Given the description of an element on the screen output the (x, y) to click on. 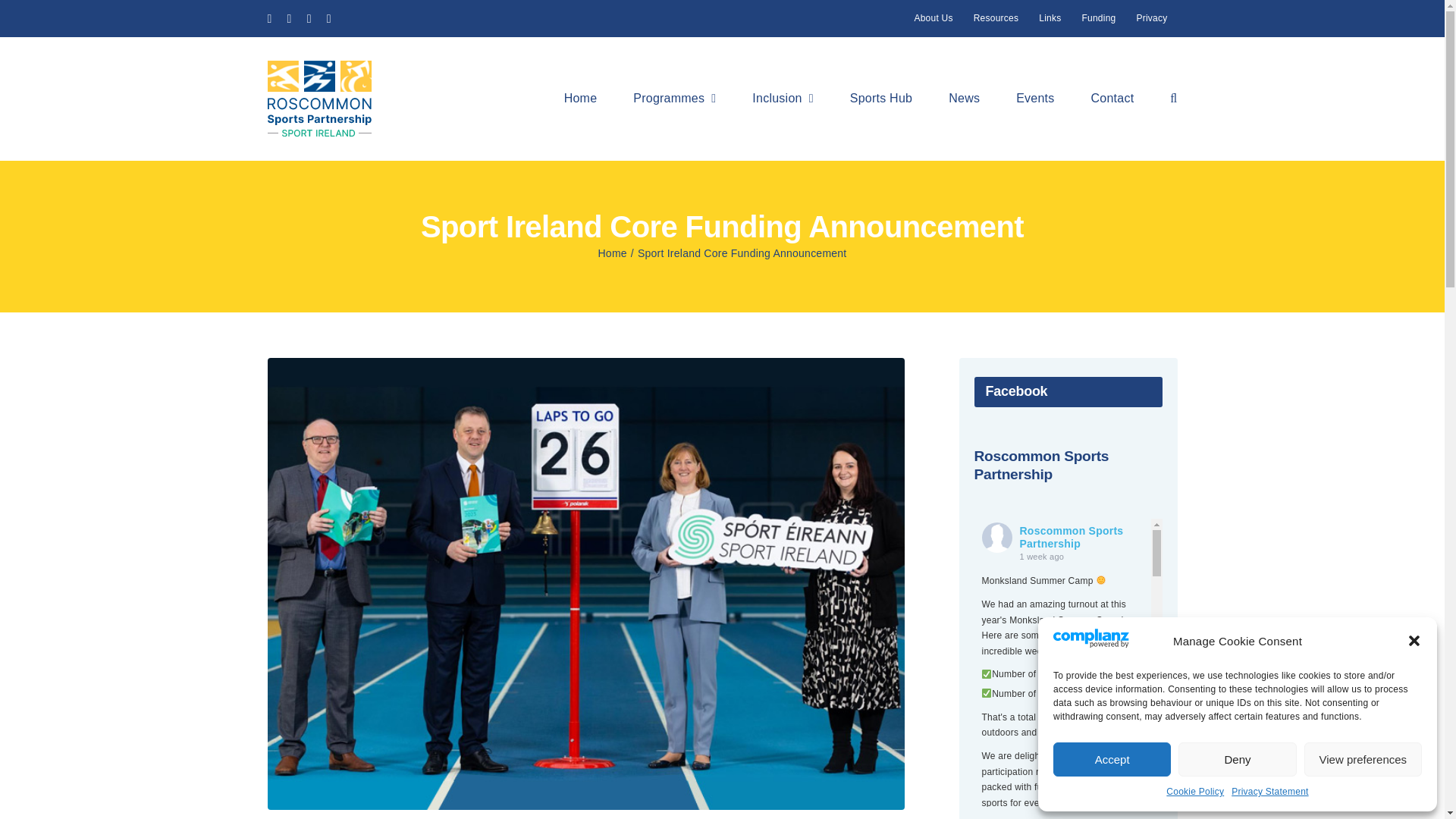
Accessibility Tools (19, 57)
Privacy Statement (1269, 791)
Accept (1111, 759)
Privacy (1150, 18)
Cookie Policy (1195, 791)
Accessibility Tools (19, 56)
View preferences (19, 56)
Funding (1363, 759)
Resources (1098, 18)
Links (996, 18)
Roscommon Sports Partnership (1049, 18)
Deny (1067, 466)
About Us (1236, 759)
